Given the description of an element on the screen output the (x, y) to click on. 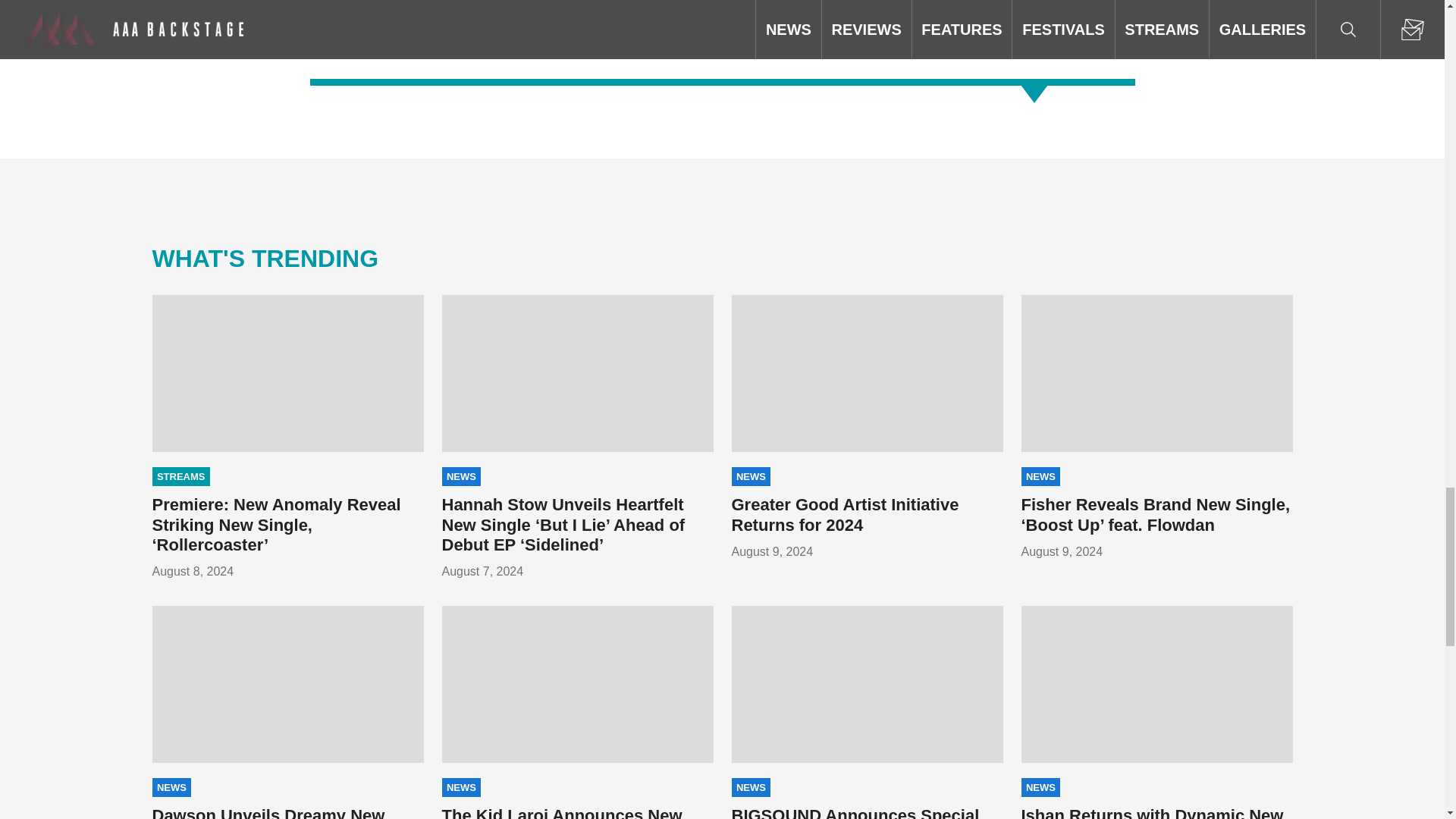
NEWS (460, 476)
NEWS (750, 476)
STREAMS (180, 476)
